Given the description of an element on the screen output the (x, y) to click on. 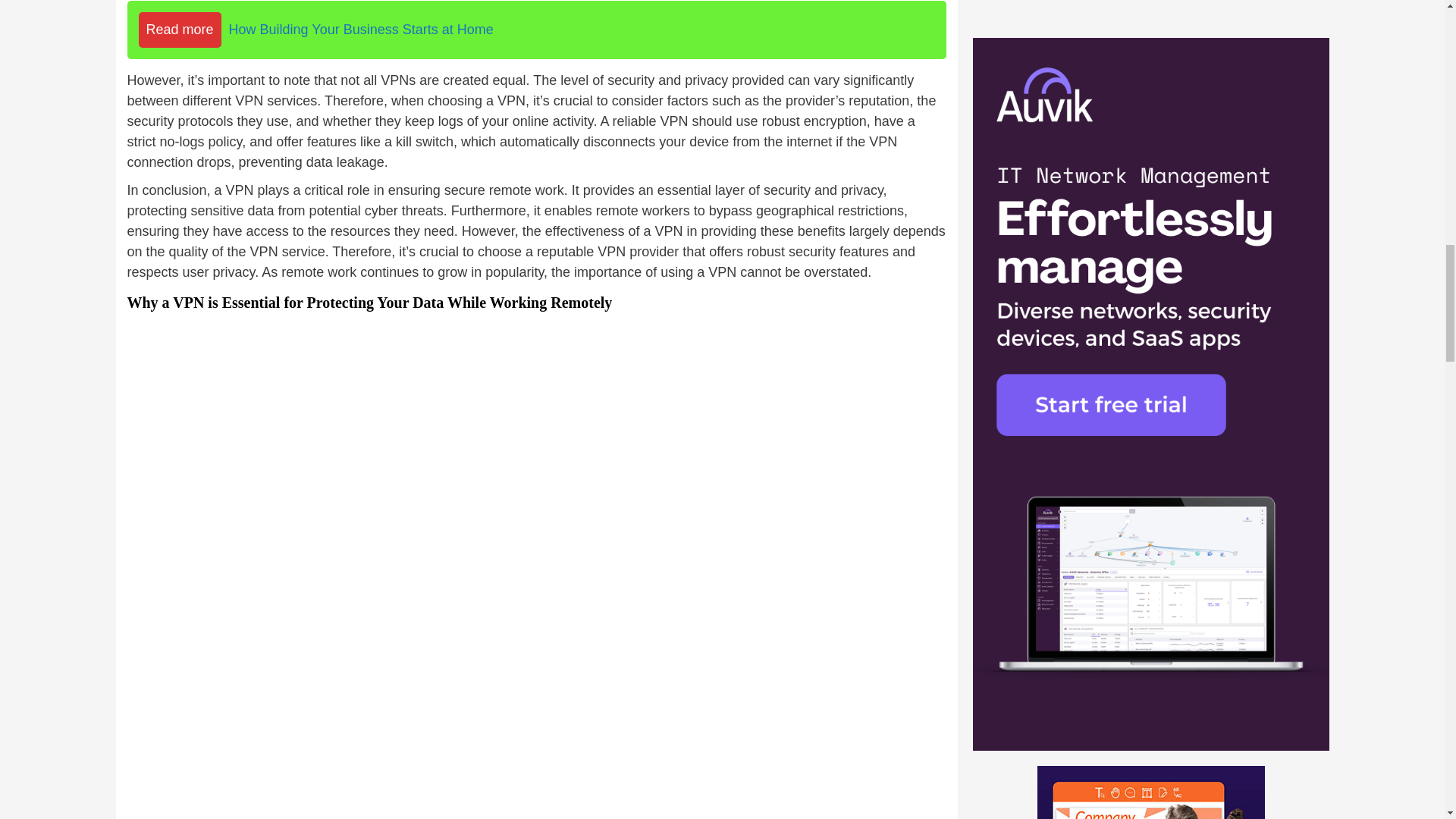
Read moreHow Building Your Business Starts at Home (537, 29)
Search (1276, 206)
Search (1276, 206)
